Given the description of an element on the screen output the (x, y) to click on. 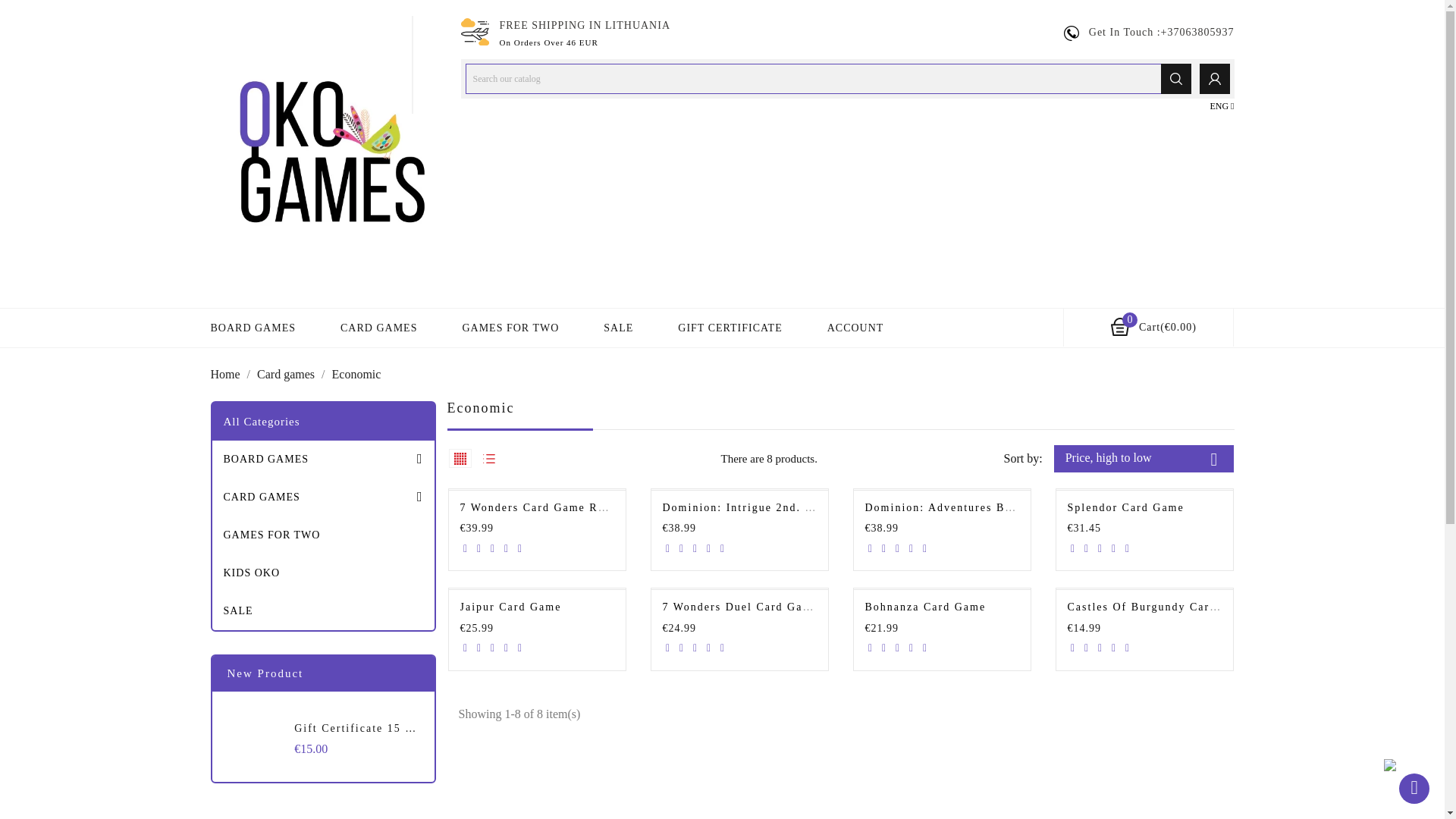
BOARD GAMES (322, 459)
GAMES FOR TWO (510, 327)
BOARD GAMES (254, 327)
Economic (356, 373)
GIFT CERTIFICATE (729, 327)
CARD GAMES (322, 497)
Card games (287, 373)
ACCOUNT (855, 327)
SALE (618, 327)
ENG (1221, 105)
